Given the description of an element on the screen output the (x, y) to click on. 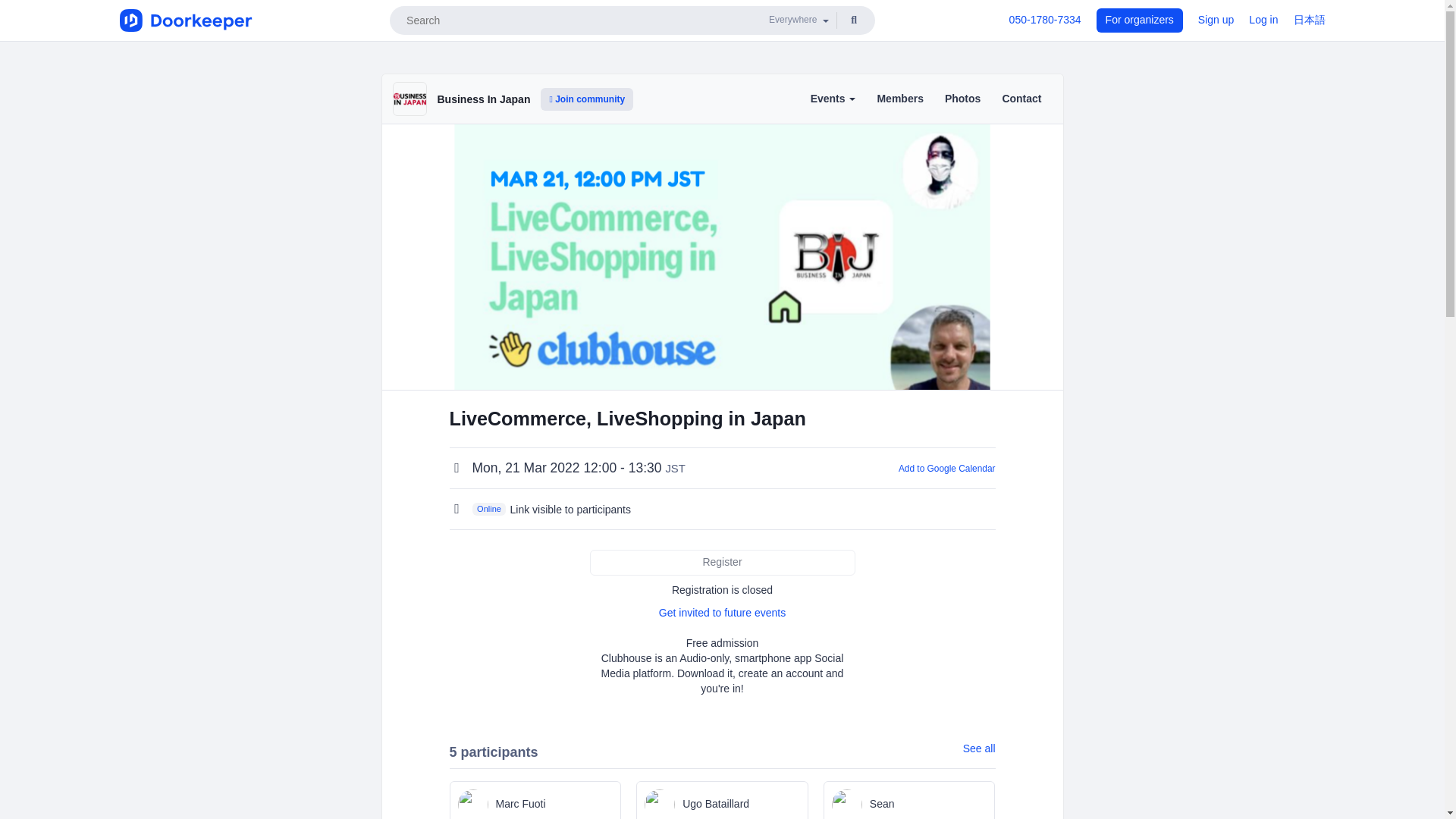
Sign up (1215, 19)
Marc Fuoti (534, 800)
Get invited to future events (722, 612)
Add to Google Calendar (946, 468)
Online (488, 508)
Photos (961, 100)
For organizers (1139, 20)
Business In Japan (482, 99)
Ugo Bataillard (722, 800)
See all (978, 749)
Log in (1263, 19)
Sean (909, 800)
Join community (586, 98)
Contact (1021, 100)
Members (899, 100)
